Given the description of an element on the screen output the (x, y) to click on. 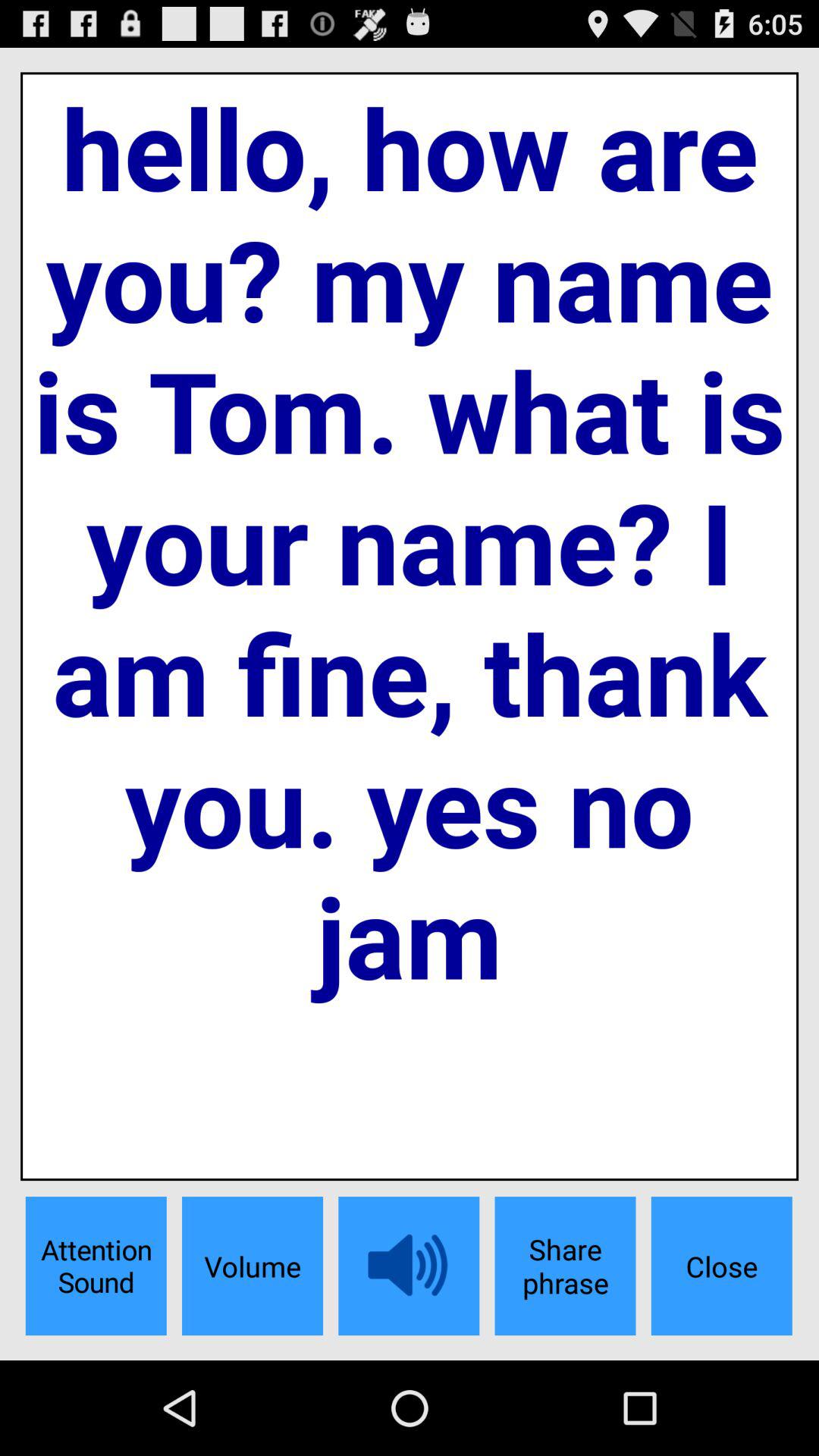
scroll to share
phrase icon (564, 1265)
